Given the description of an element on the screen output the (x, y) to click on. 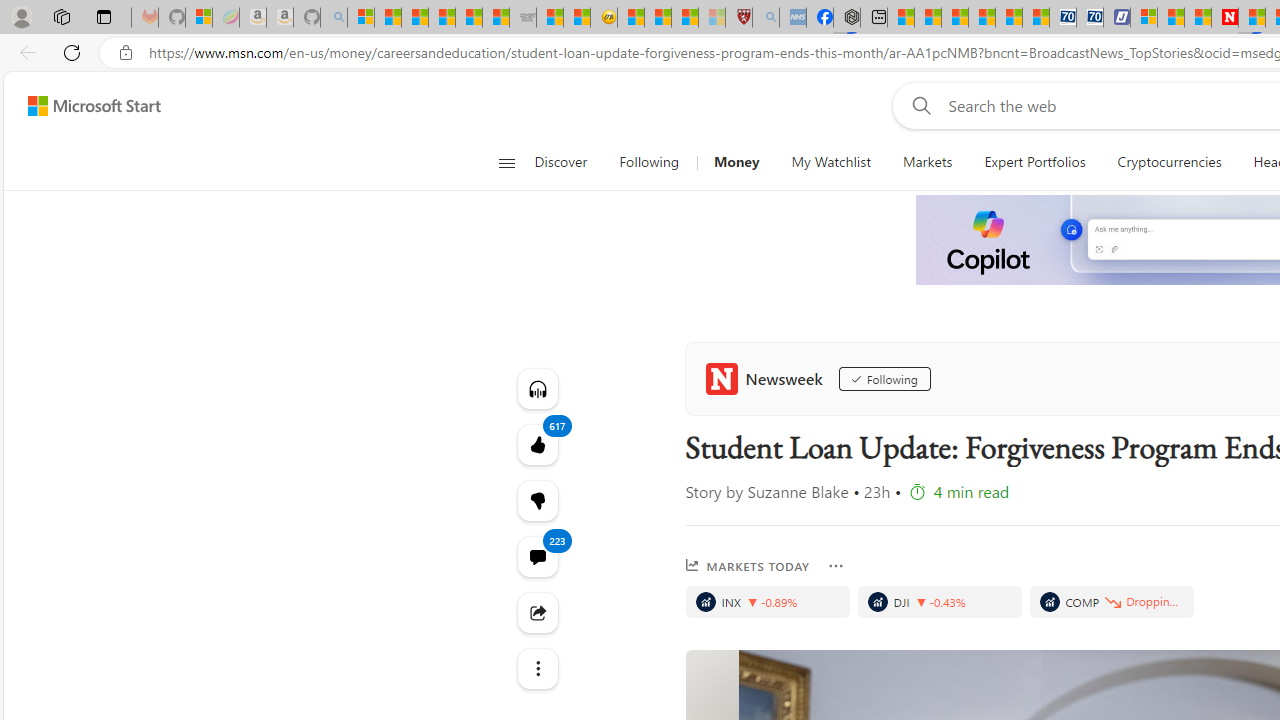
INX, S&P 500. Price is 5,570.64. Decreased by -0.89% (766, 601)
Cryptocurrencies (1168, 162)
View comments 223 Comment (537, 556)
